Given the description of an element on the screen output the (x, y) to click on. 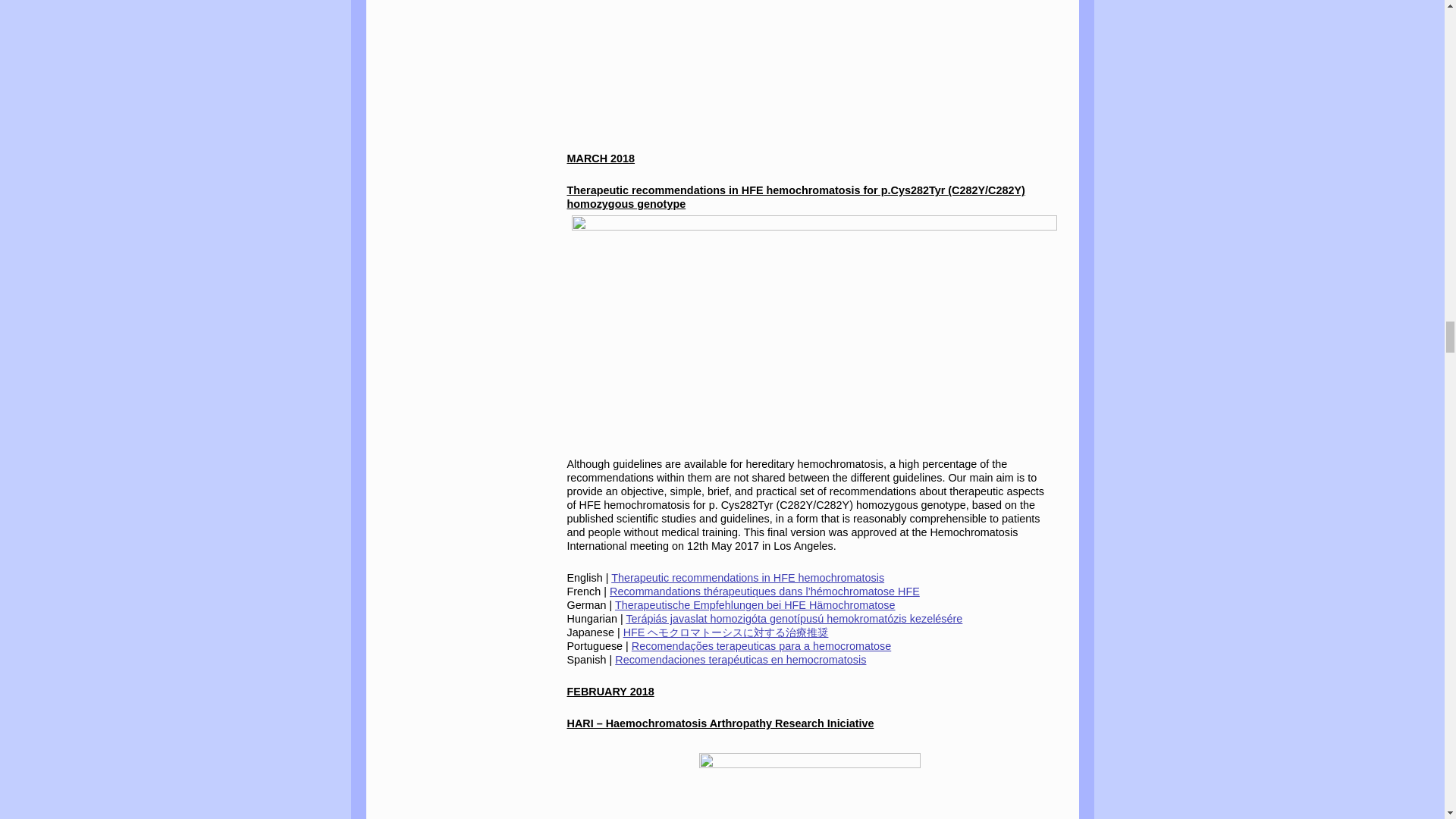
Sweden (814, 63)
